Given the description of an element on the screen output the (x, y) to click on. 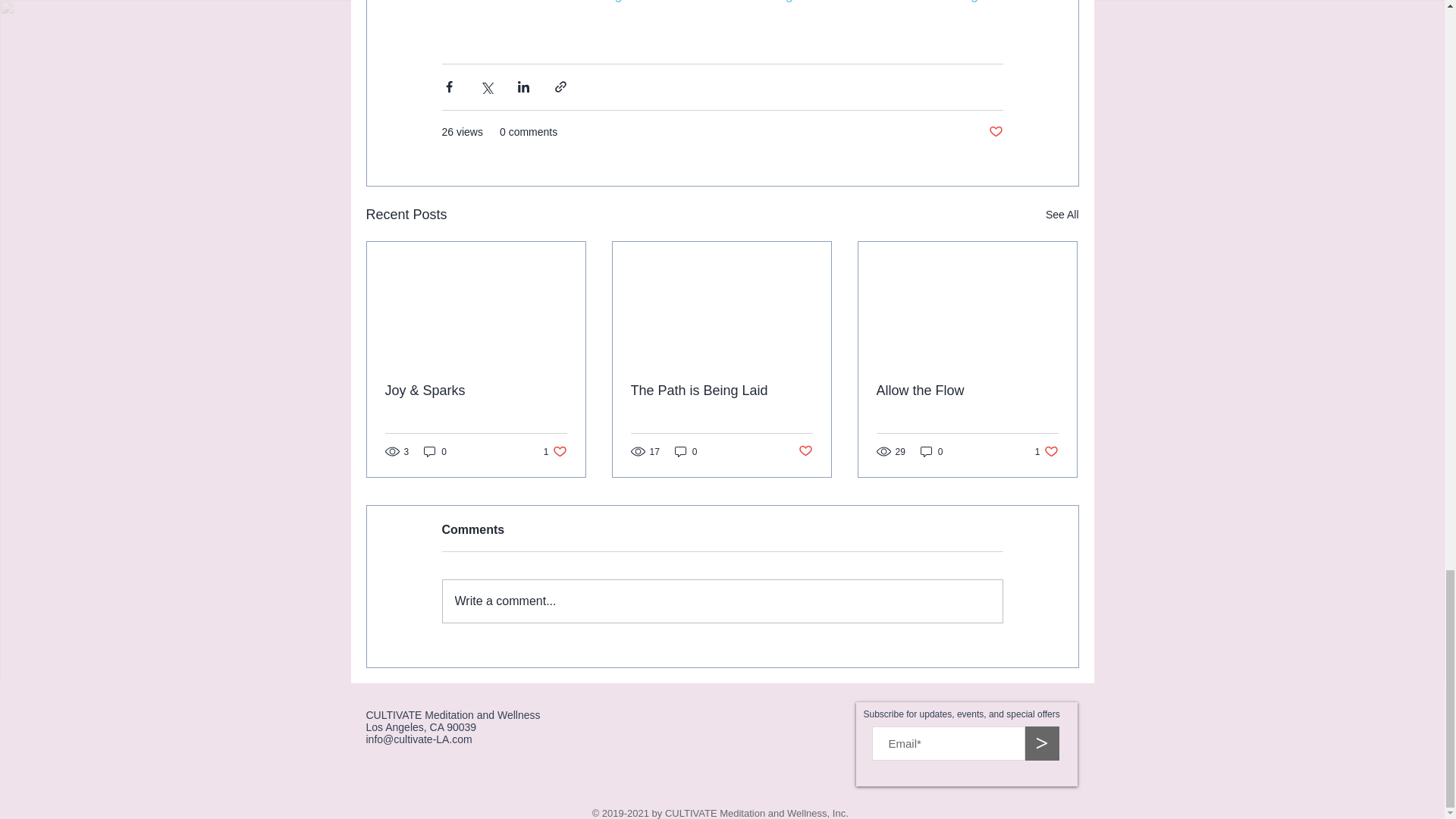
0 (685, 451)
See All (1061, 214)
Post not marked as liked (804, 451)
Write a comment... (555, 451)
Allow the Flow (722, 600)
The Path is Being Laid (967, 390)
0 (1046, 451)
Post not marked as liked (721, 390)
0 (931, 451)
